Given the description of an element on the screen output the (x, y) to click on. 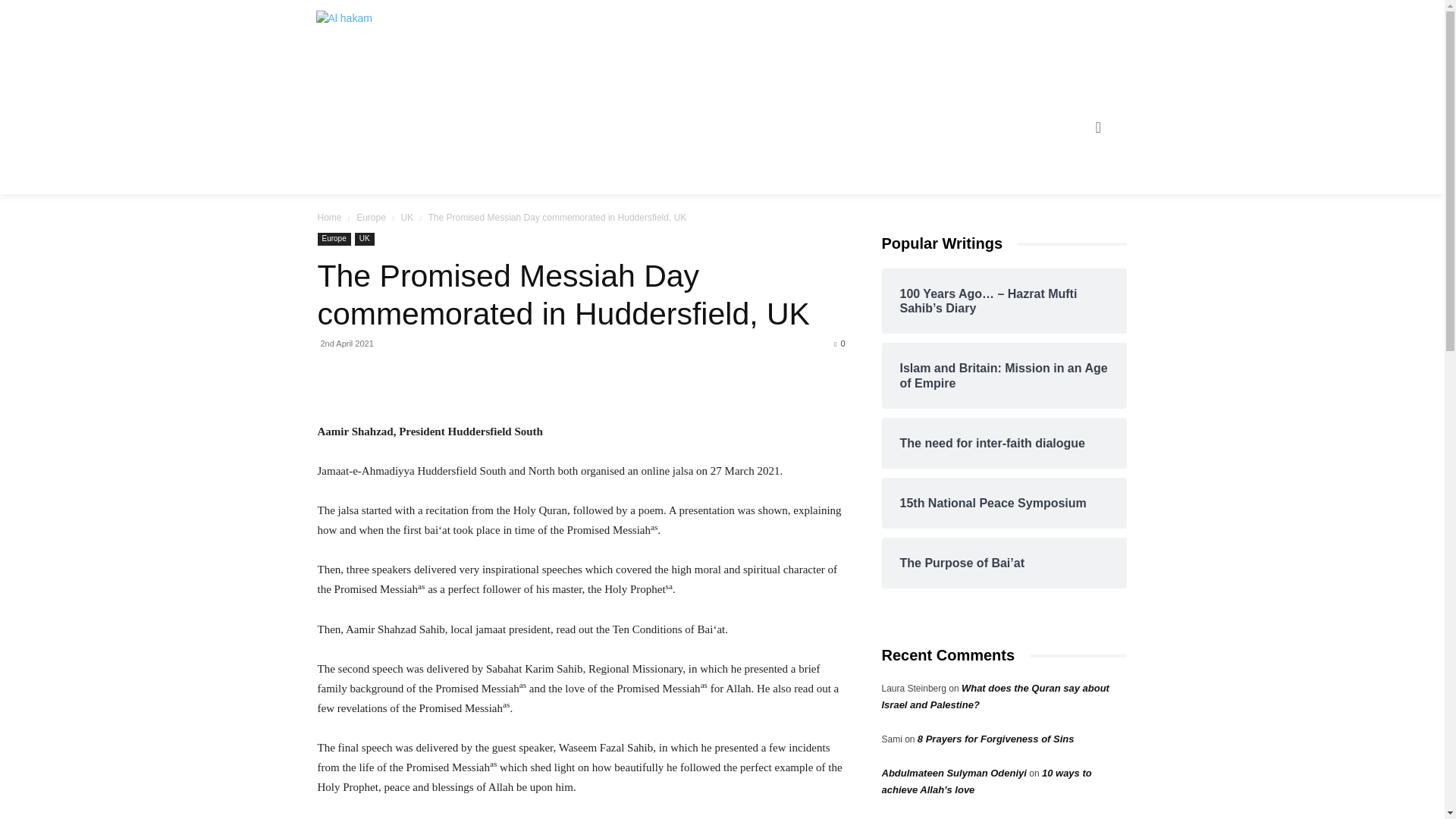
View all posts in UK (406, 217)
Alhakam (372, 27)
View all posts in Europe (370, 217)
